Given the description of an element on the screen output the (x, y) to click on. 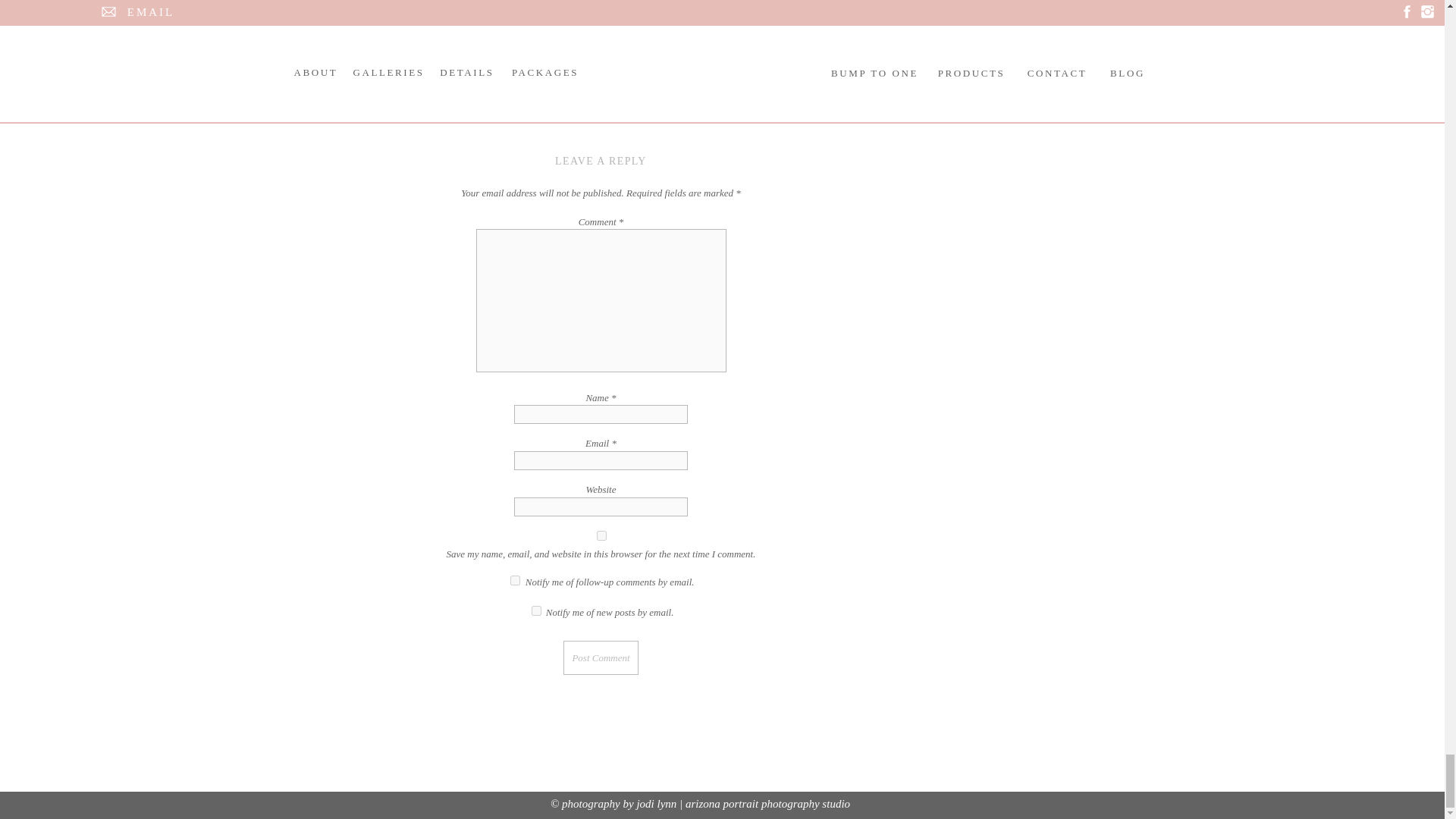
subscribe (515, 580)
subscribe (536, 610)
yes (600, 535)
Post Comment (600, 657)
